Given the description of an element on the screen output the (x, y) to click on. 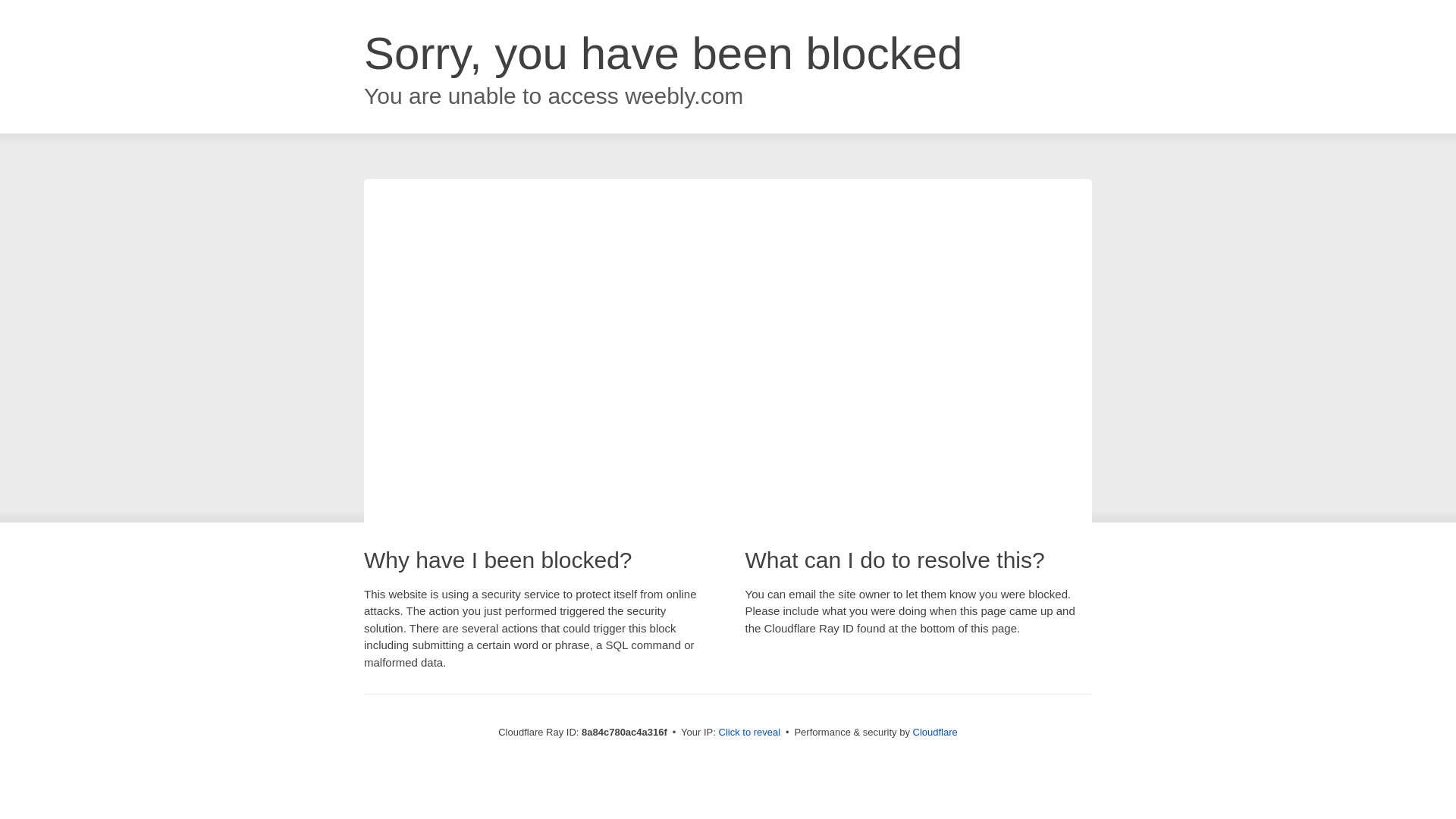
Click to reveal (749, 732)
Cloudflare (935, 731)
